Given the description of an element on the screen output the (x, y) to click on. 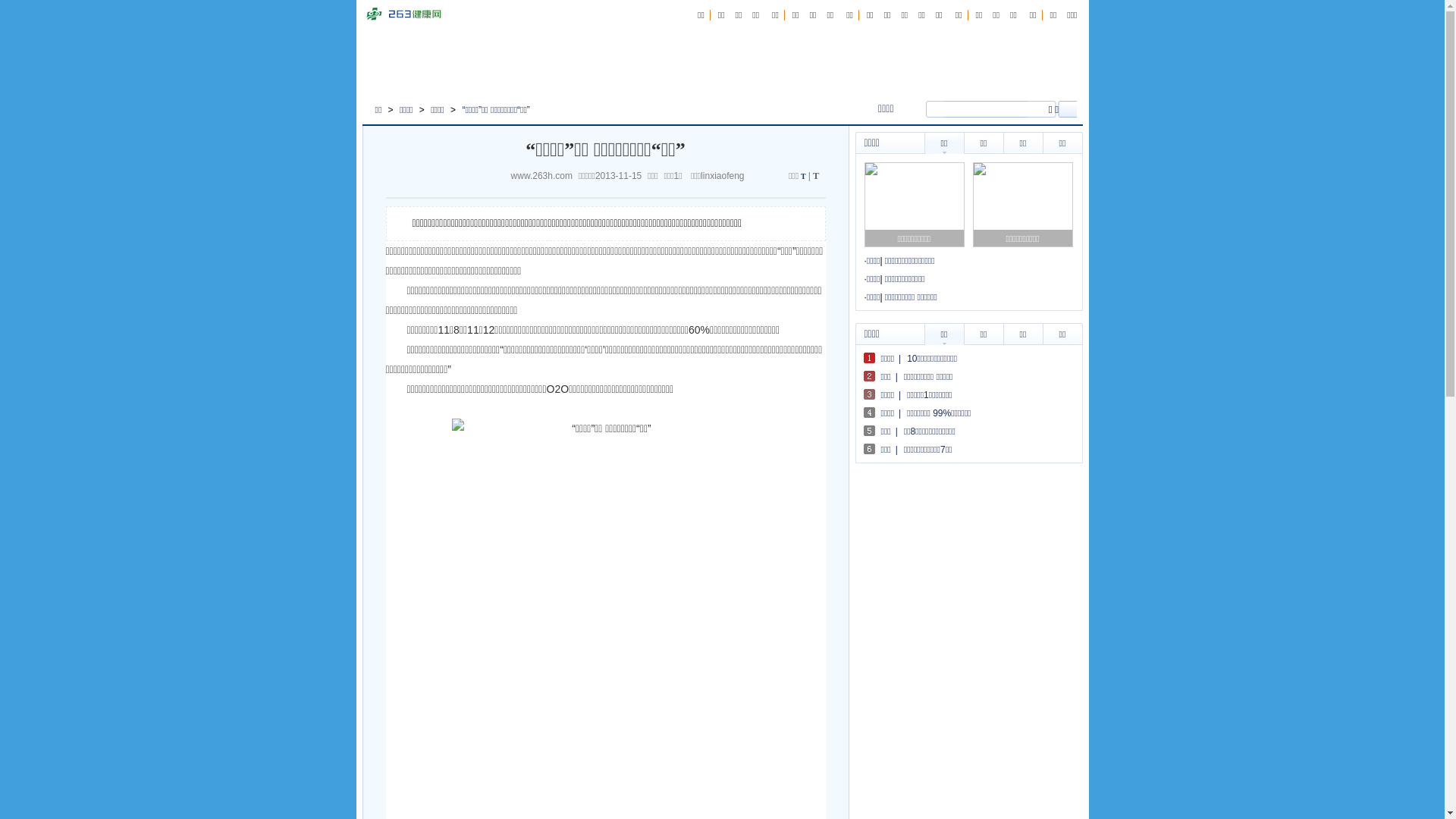
T Element type: text (816, 175)
www.263h.com Element type: text (544, 175)
T Element type: text (803, 176)
